Given the description of an element on the screen output the (x, y) to click on. 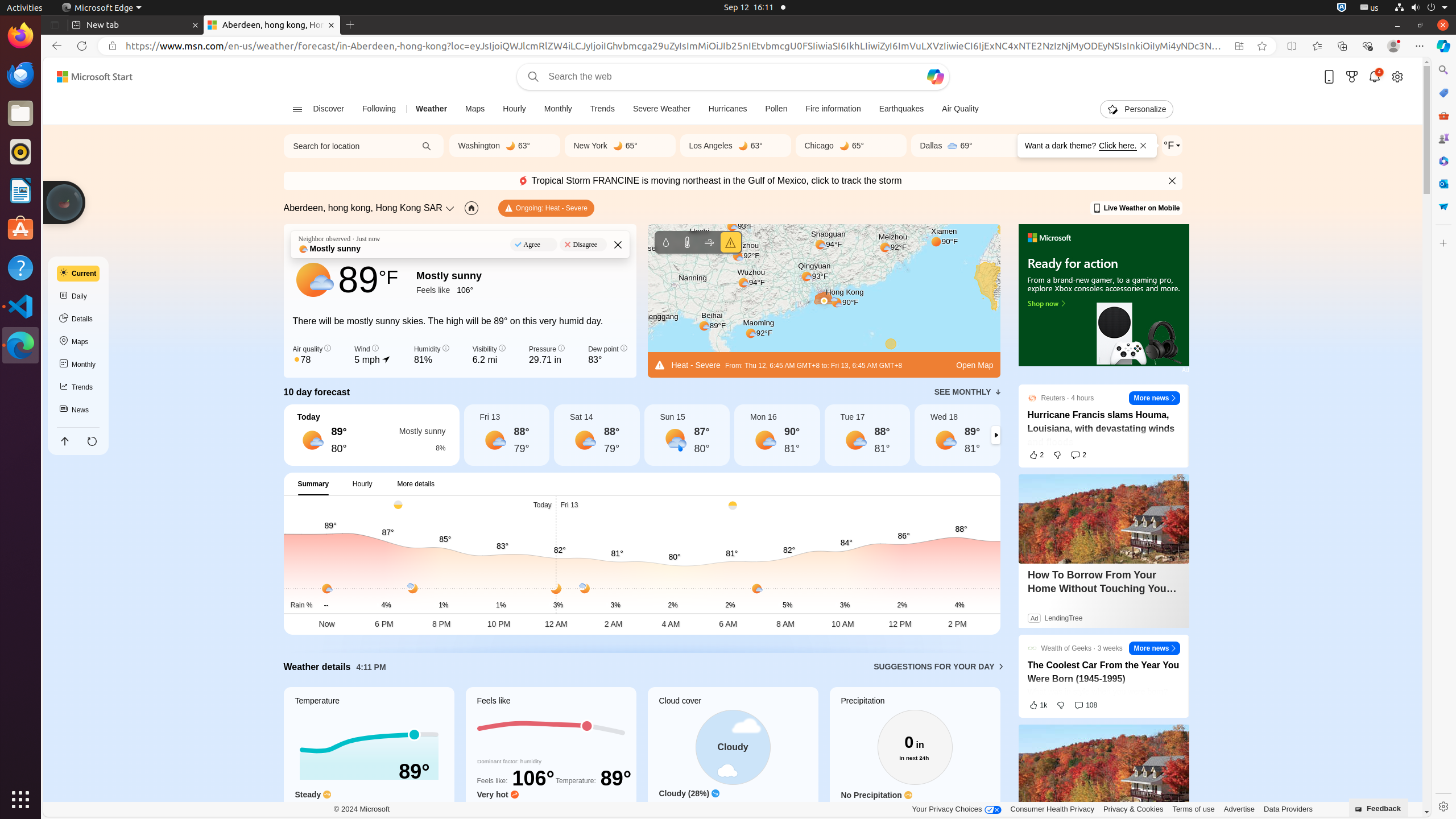
New York Clear 65° Element type: push-button (619, 145)
Customize Element type: push-button (1443, 243)
Dallas Element type: push-button (930, 145)
New York Element type: push-button (590, 145)
Outlook Element type: push-button (1443, 183)
